Given the description of an element on the screen output the (x, y) to click on. 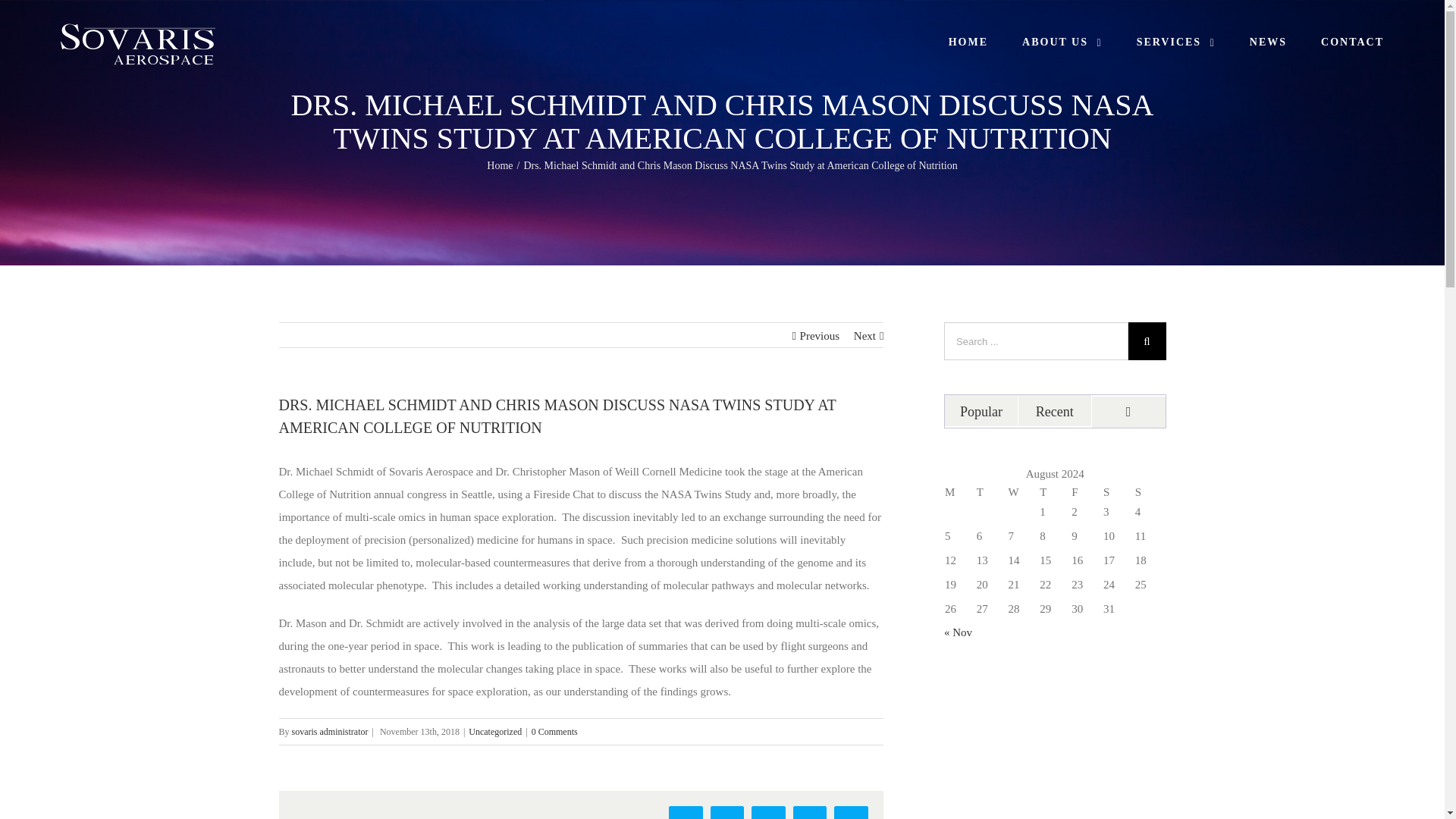
Posts by sovaris administrator (330, 731)
Thursday (1054, 492)
Twitter (727, 812)
0 Comments (554, 731)
Wednesday (1023, 492)
Facebook (685, 812)
Pinterest (810, 812)
ABOUT US (1062, 41)
sovaris administrator (330, 731)
Friday (1086, 492)
